Given the description of an element on the screen output the (x, y) to click on. 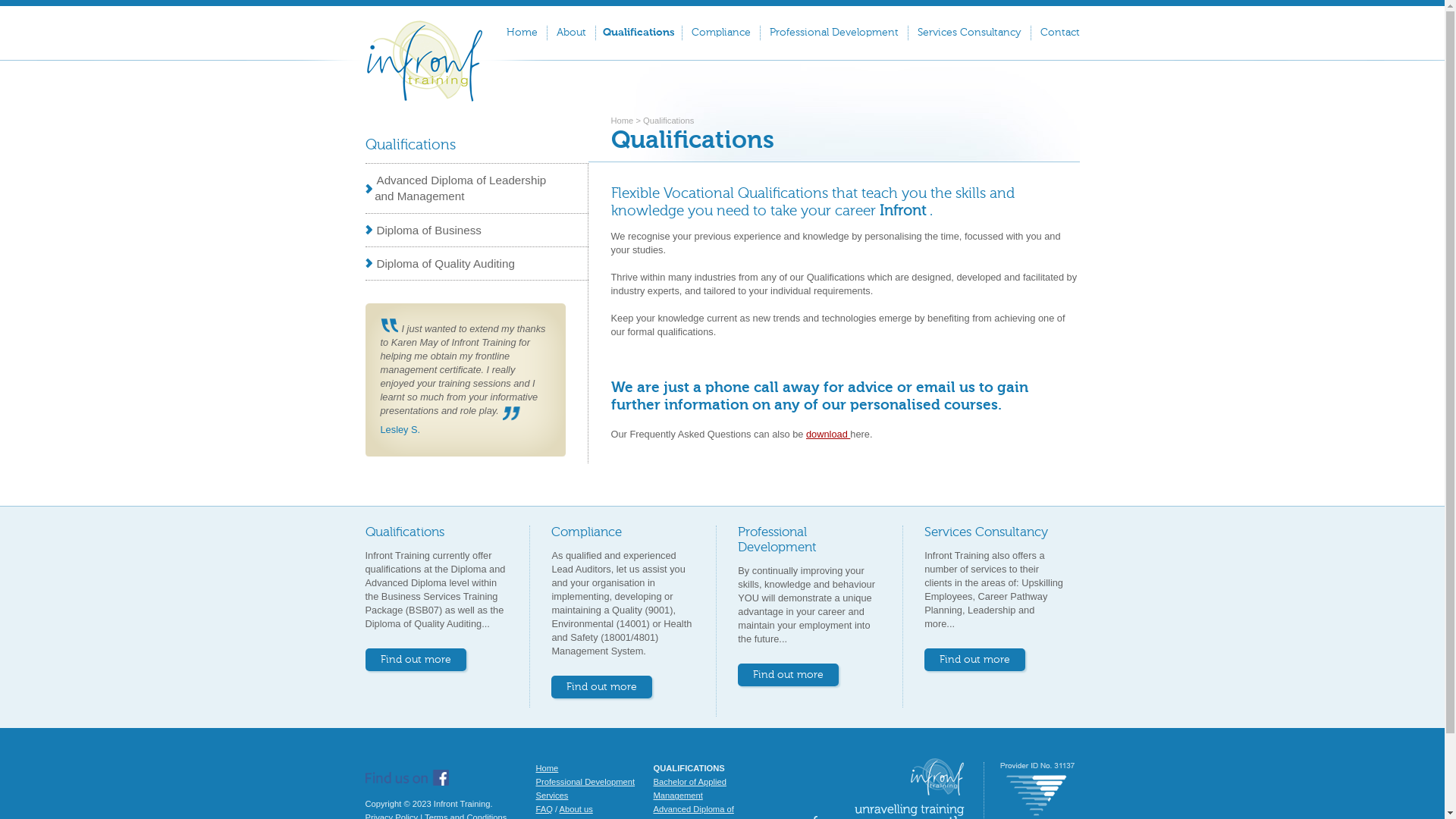
Qualifications Element type: text (410, 145)
Services Consultancy Element type: text (986, 532)
Diploma of Business Element type: text (476, 229)
Professional Development Element type: text (776, 540)
Advanced Diploma of Leadership
   and Management Element type: text (476, 188)
About us Element type: text (576, 808)
About Element type: text (571, 32)
Services Element type: text (551, 795)
Find out more Element type: text (415, 659)
Contact Element type: text (1055, 32)
Find out more Element type: text (974, 659)
Home Element type: text (546, 767)
Qualifications Element type: text (404, 532)
FAQ Element type: text (543, 808)
Find out more Element type: text (601, 686)
Diploma of Quality Auditing Element type: text (476, 262)
Compliance Element type: text (586, 532)
download Element type: text (828, 433)
Bachelor of Applied Management Element type: text (689, 788)
Home Element type: text (522, 32)
Find out more Element type: text (787, 674)
Home Element type: text (622, 120)
Professional Development Element type: text (584, 781)
Qualifications Element type: text (639, 32)
Compliance Element type: text (721, 32)
Services Consultancy Element type: text (969, 32)
Professional Development Element type: text (833, 32)
